Given the description of an element on the screen output the (x, y) to click on. 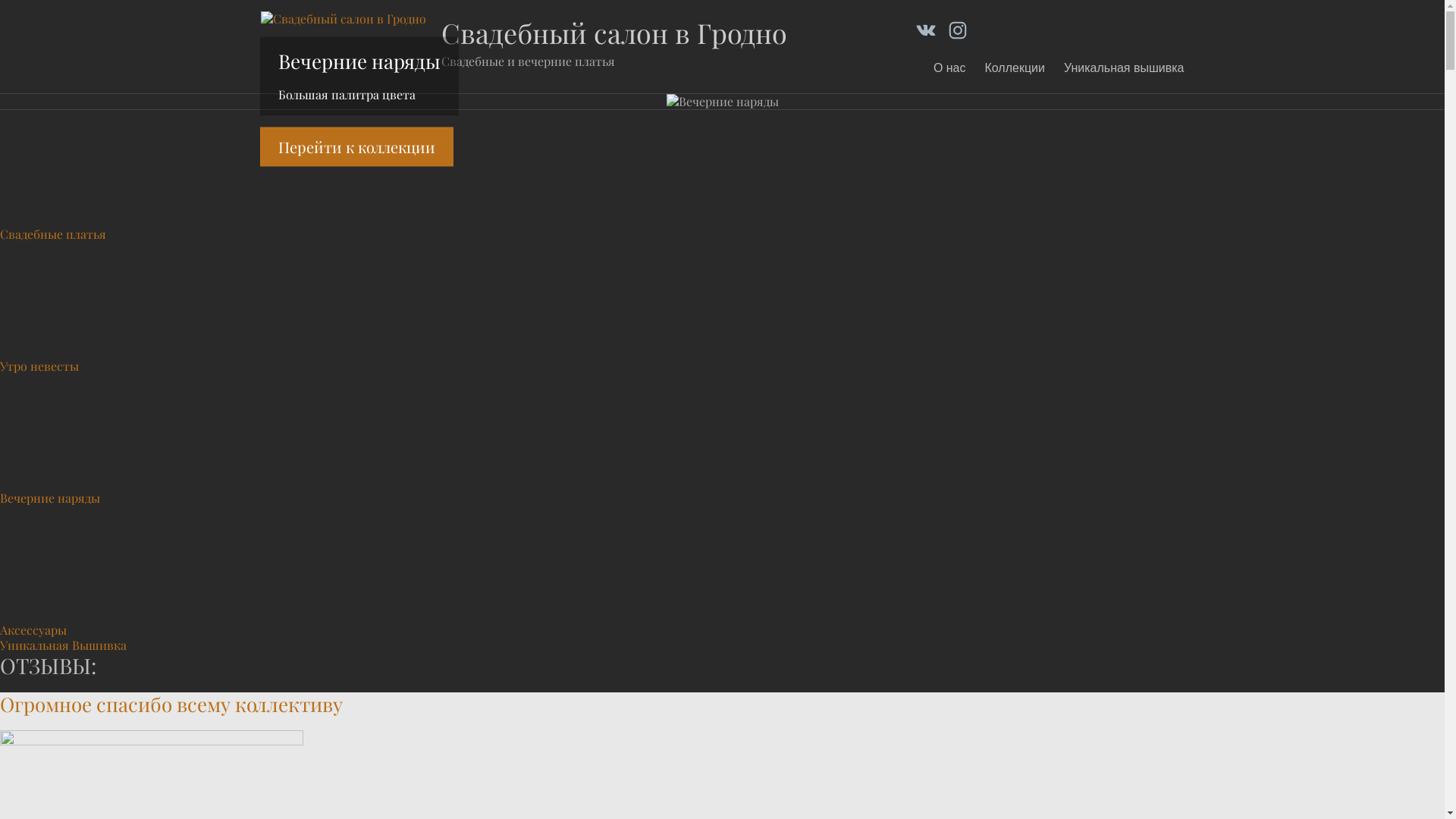
VK Element type: text (925, 29)
Instagram Element type: text (957, 29)
